Given the description of an element on the screen output the (x, y) to click on. 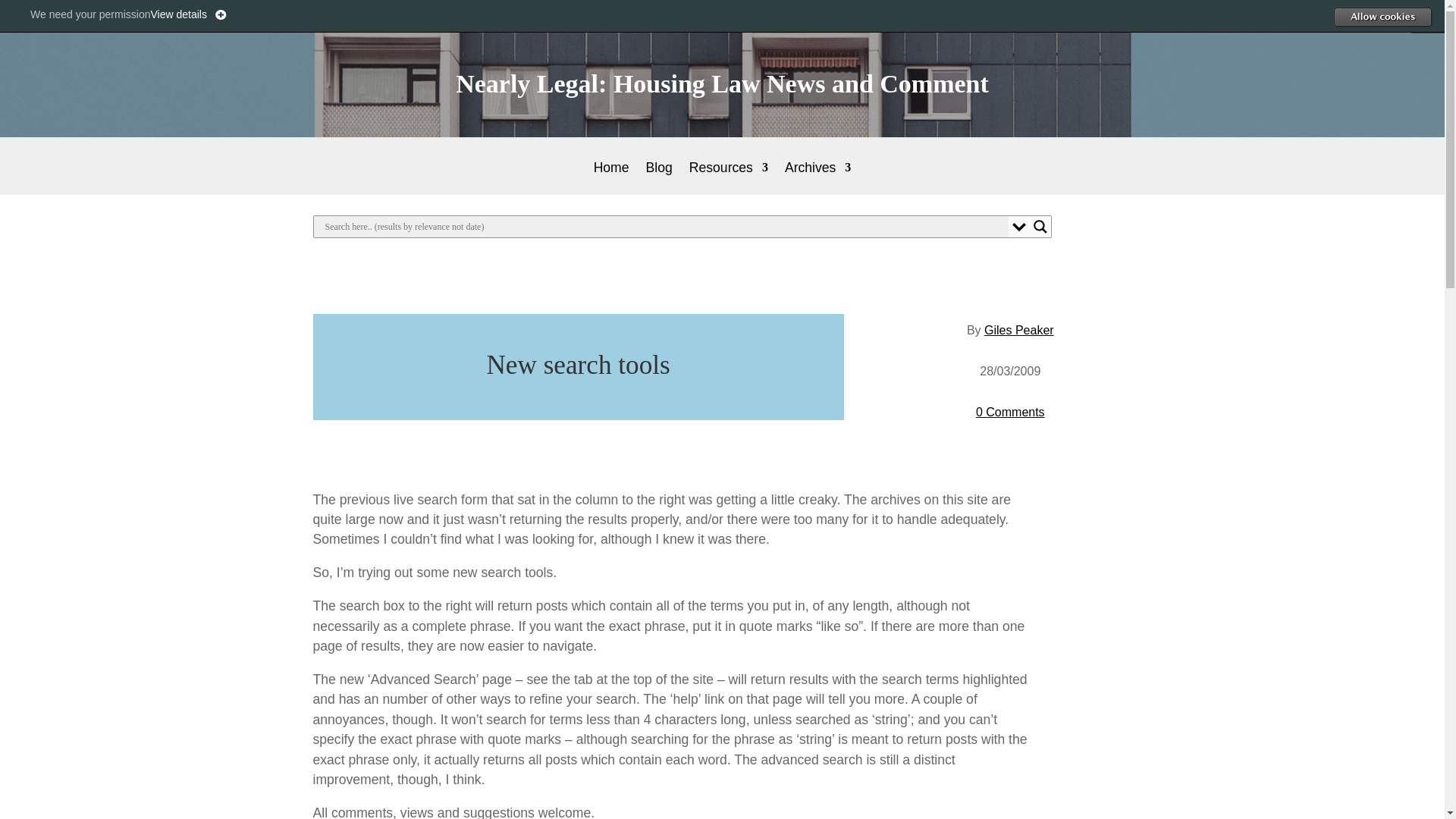
Home (611, 178)
Archives (817, 178)
Resources (728, 178)
